Given the description of an element on the screen output the (x, y) to click on. 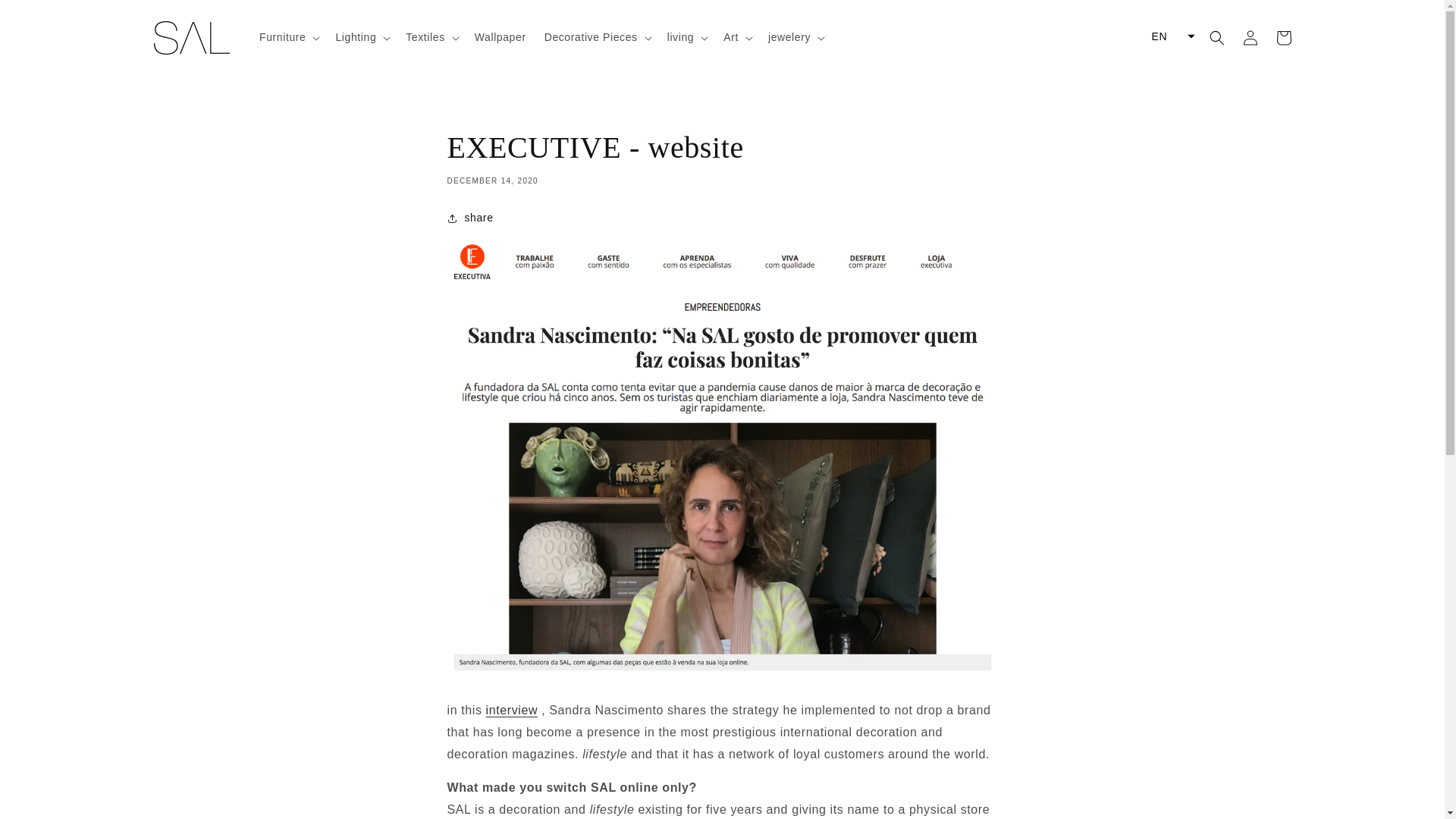
Skip to content (45, 16)
